Given the description of an element on the screen output the (x, y) to click on. 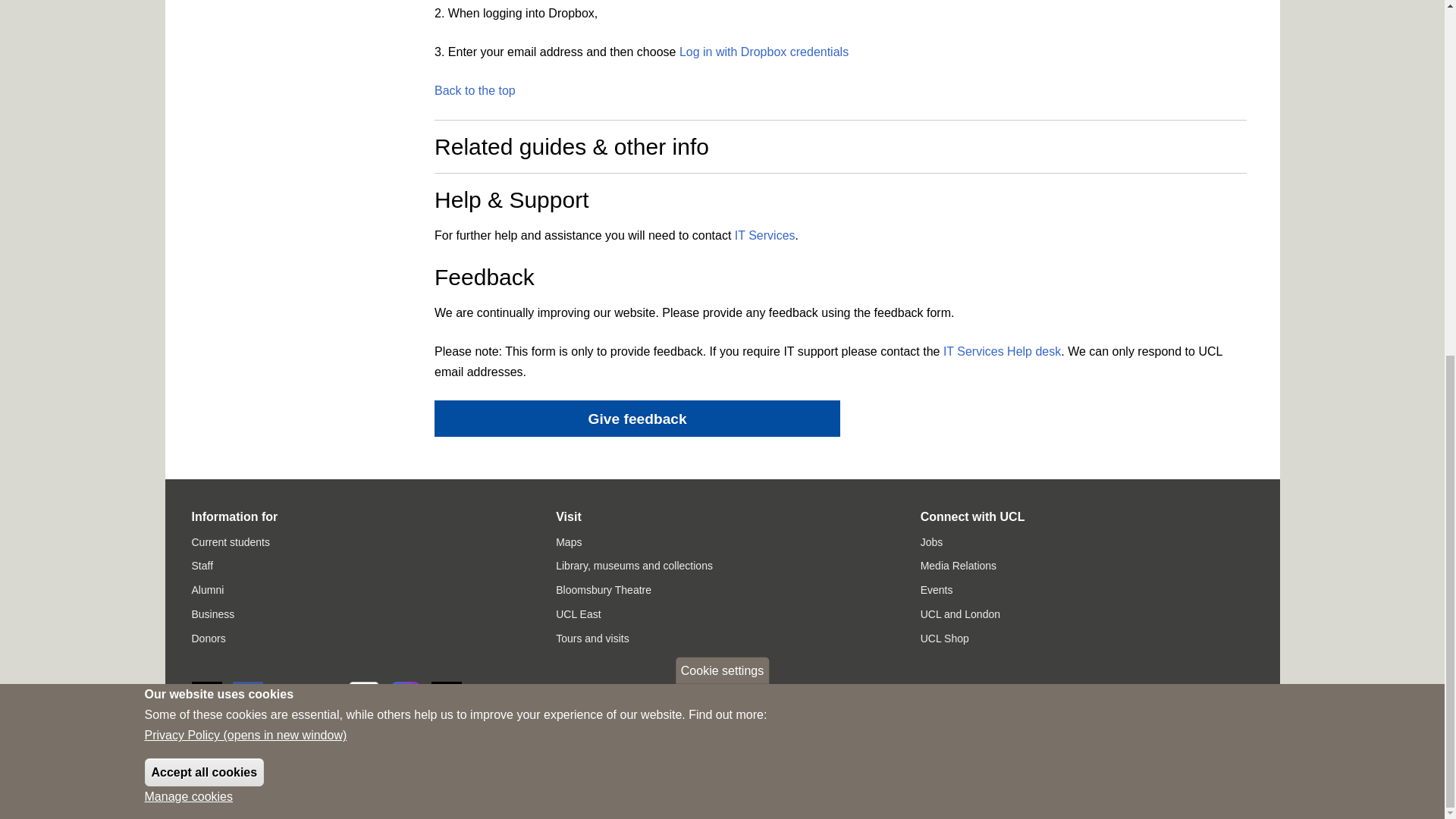
IT Services Help desk (1002, 350)
Log in with Dropbox credentials (763, 51)
Back to the top (474, 90)
Give feedback (636, 418)
IT Services (764, 235)
Current students (229, 541)
